Given the description of an element on the screen output the (x, y) to click on. 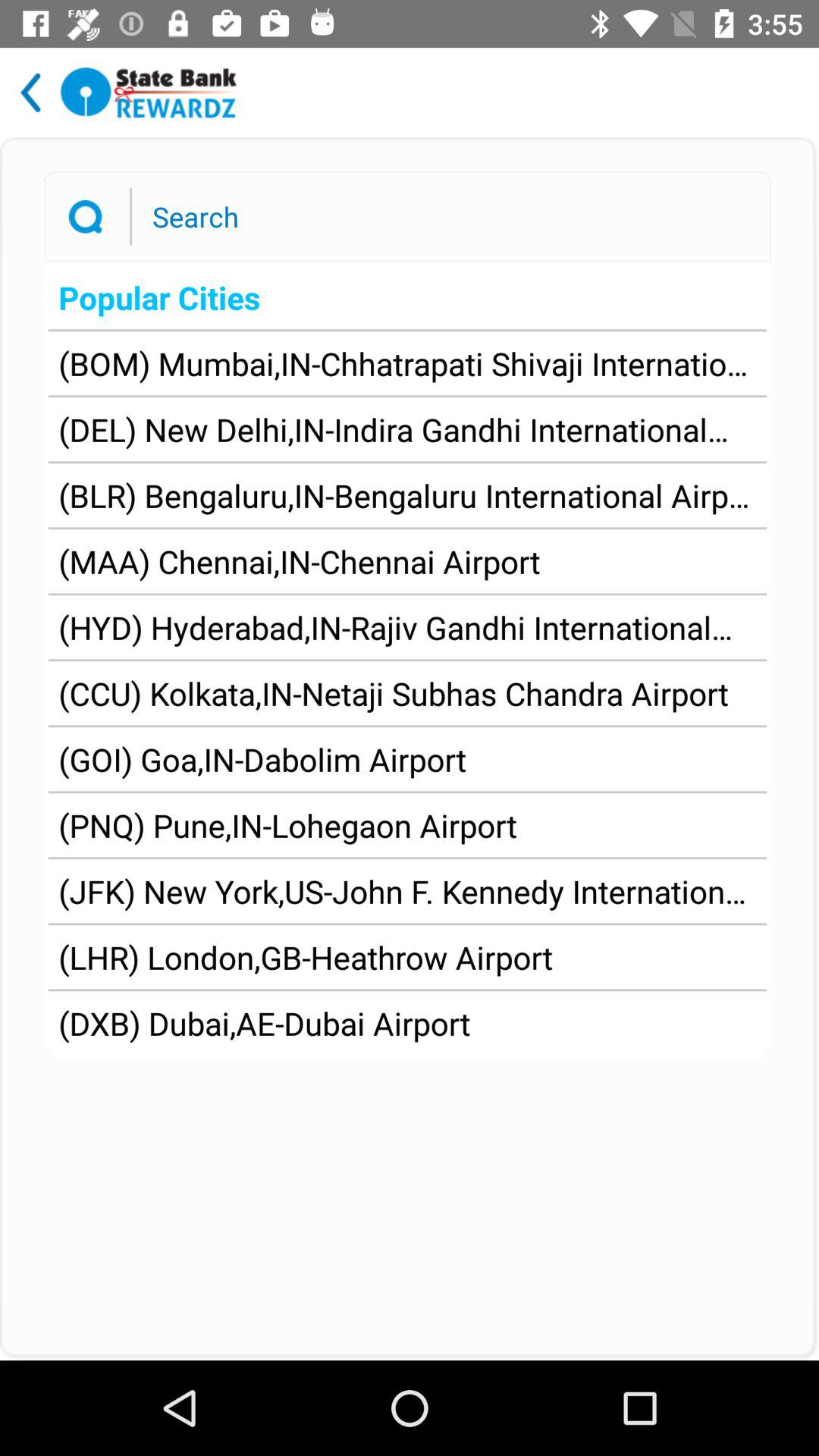
select item below the goi goa in app (287, 824)
